Given the description of an element on the screen output the (x, y) to click on. 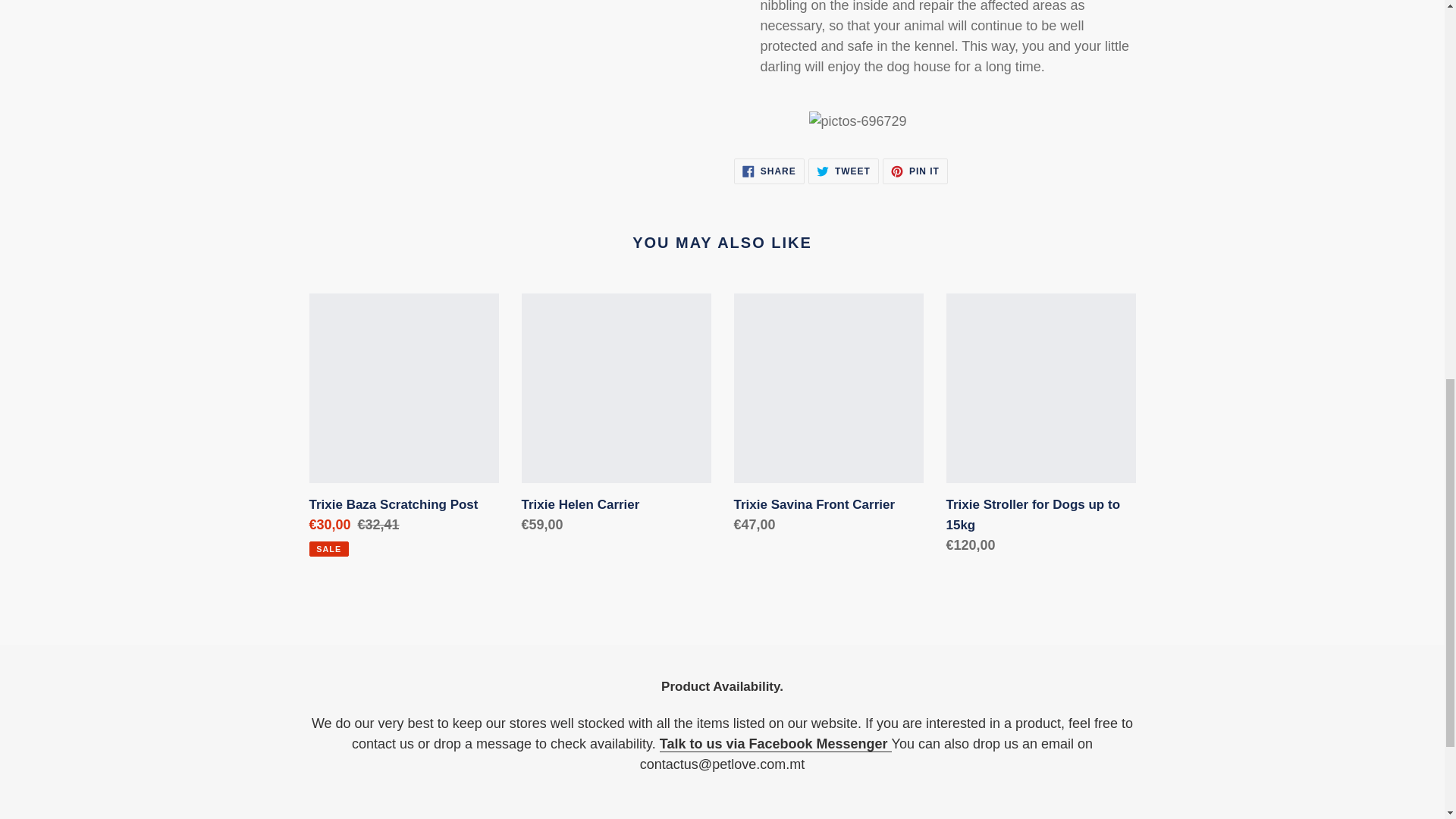
Go to our Facebook Page (775, 744)
Talk to us via Facebook Messenger (843, 171)
